Given the description of an element on the screen output the (x, y) to click on. 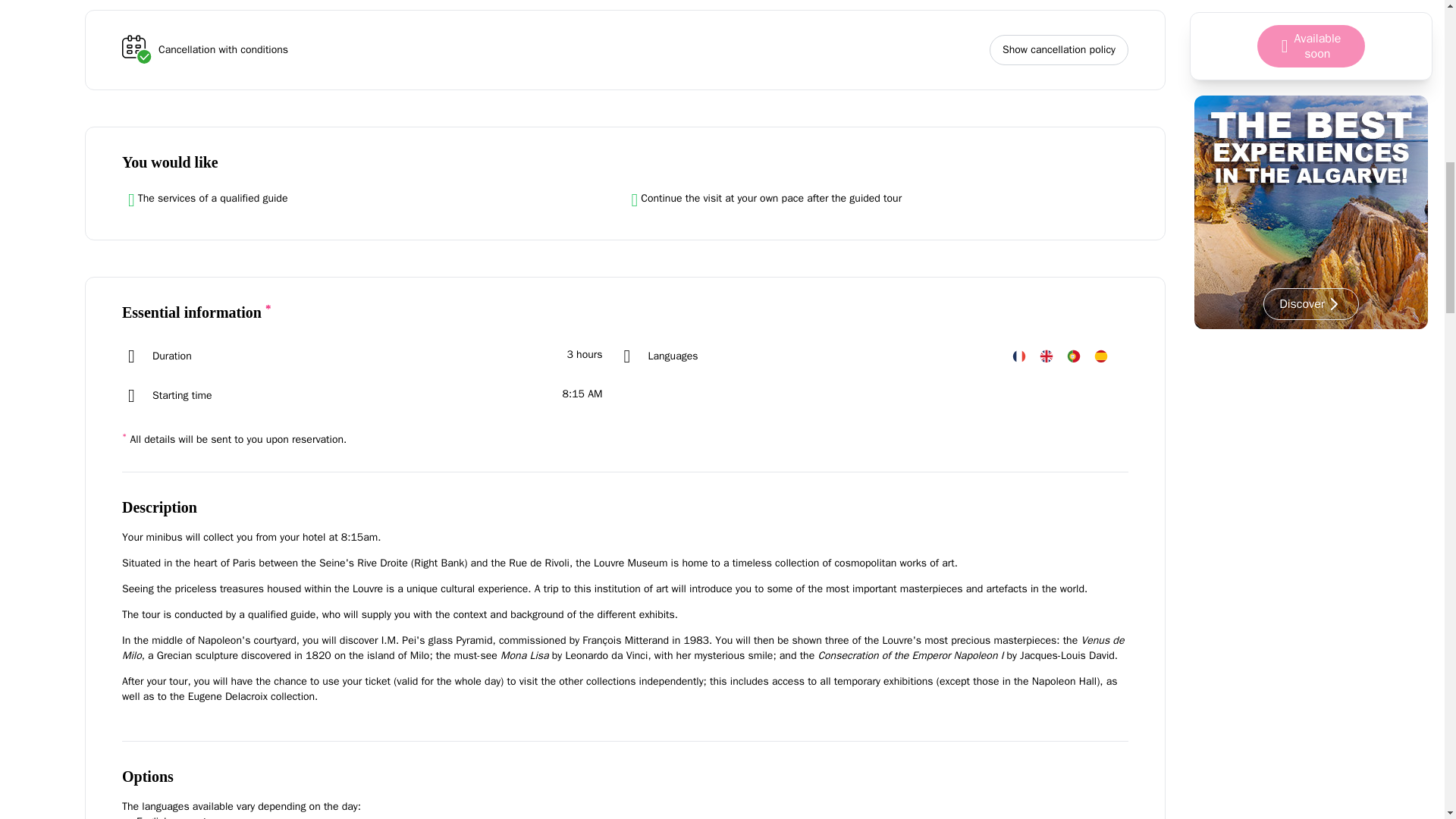
Spanish (1100, 356)
Discover (1310, 15)
English (1045, 356)
Discover (1310, 20)
Show cancellation policy (1059, 50)
Portuguese (1073, 356)
French (1018, 356)
